Given the description of an element on the screen output the (x, y) to click on. 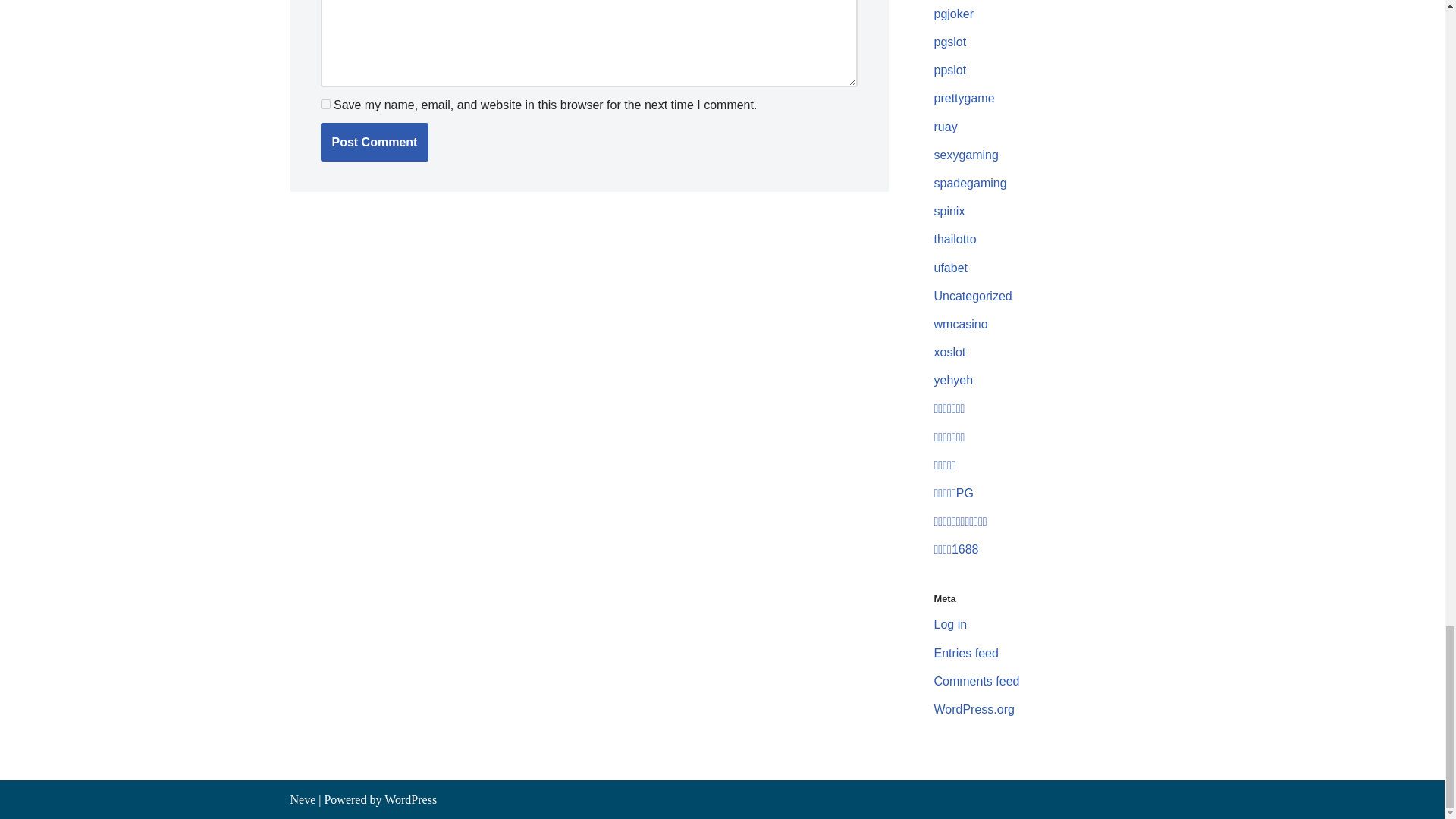
yes (325, 103)
Post Comment (374, 142)
Post Comment (374, 142)
